Given the description of an element on the screen output the (x, y) to click on. 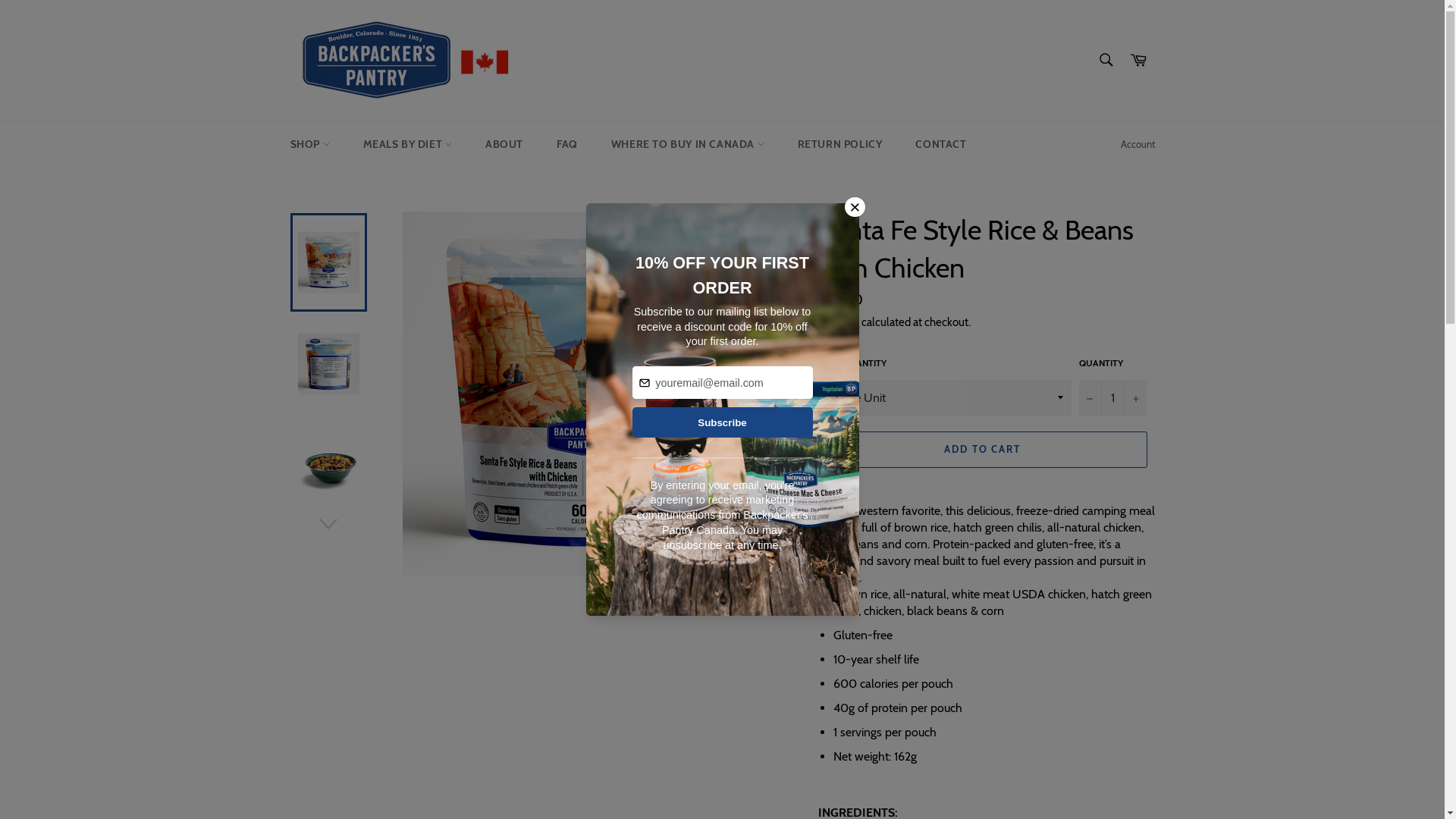
Shipping Element type: text (837, 322)
+ Element type: text (1134, 397)
Account Element type: text (1137, 144)
RETURN POLICY Element type: text (839, 144)
Search Element type: text (1105, 59)
CONTACT Element type: text (940, 144)
SHOP Element type: text (309, 144)
Cart Element type: text (1138, 60)
WHERE TO BUY IN CANADA Element type: text (687, 144)
ADD TO CART Element type: text (981, 449)
ABOUT Element type: text (504, 144)
MEALS BY DIET Element type: text (406, 144)
FAQ Element type: text (567, 144)
